Given the description of an element on the screen output the (x, y) to click on. 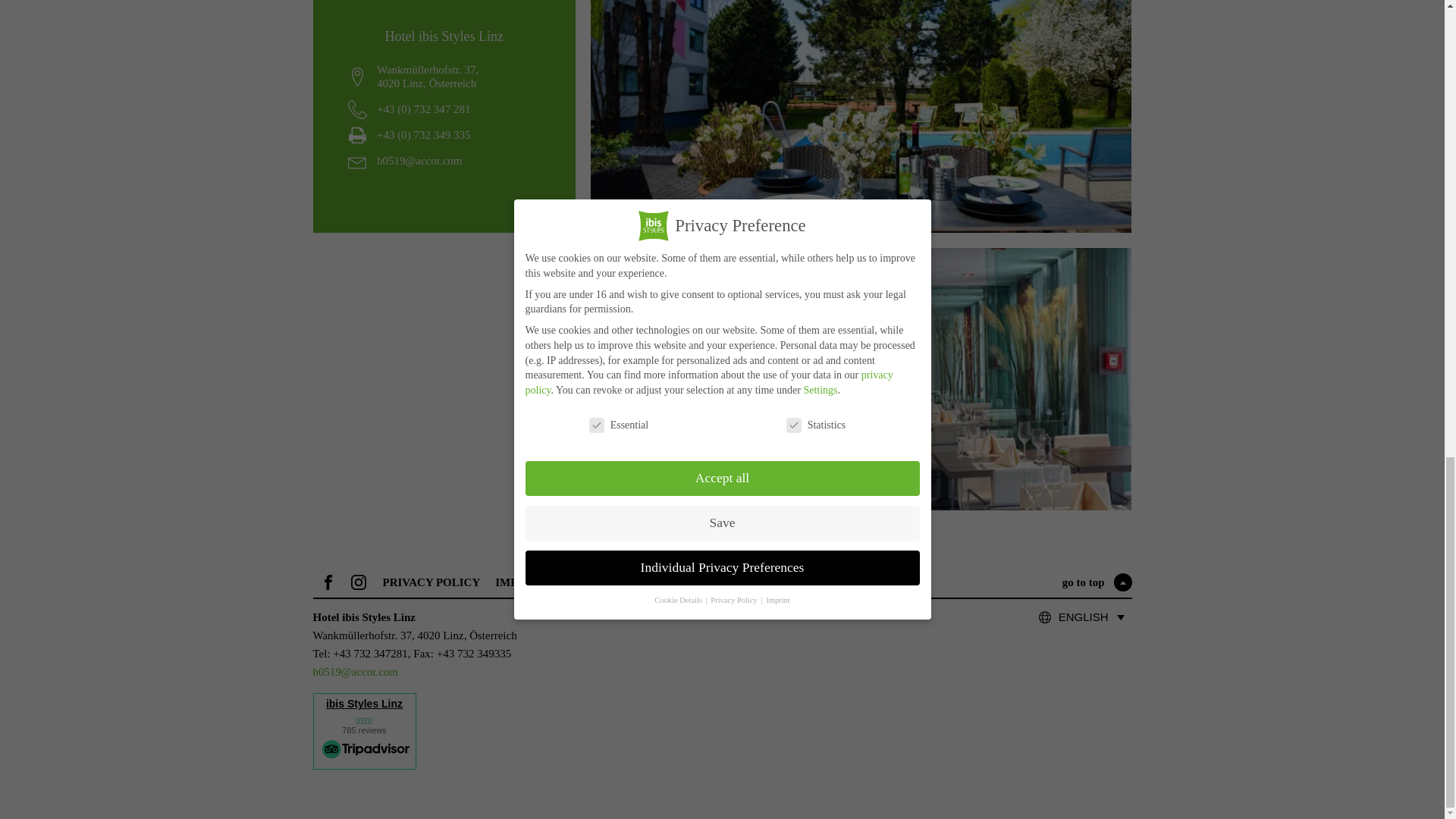
ENGLISH (1091, 617)
ibis Styles Linz (364, 703)
RIGHT OF WITHDRAWAL (789, 582)
PRIVACY POLICY (430, 582)
TERMS AND CONDITIONS (632, 582)
go to top (1097, 582)
IMPRINT (520, 582)
